Given the description of an element on the screen output the (x, y) to click on. 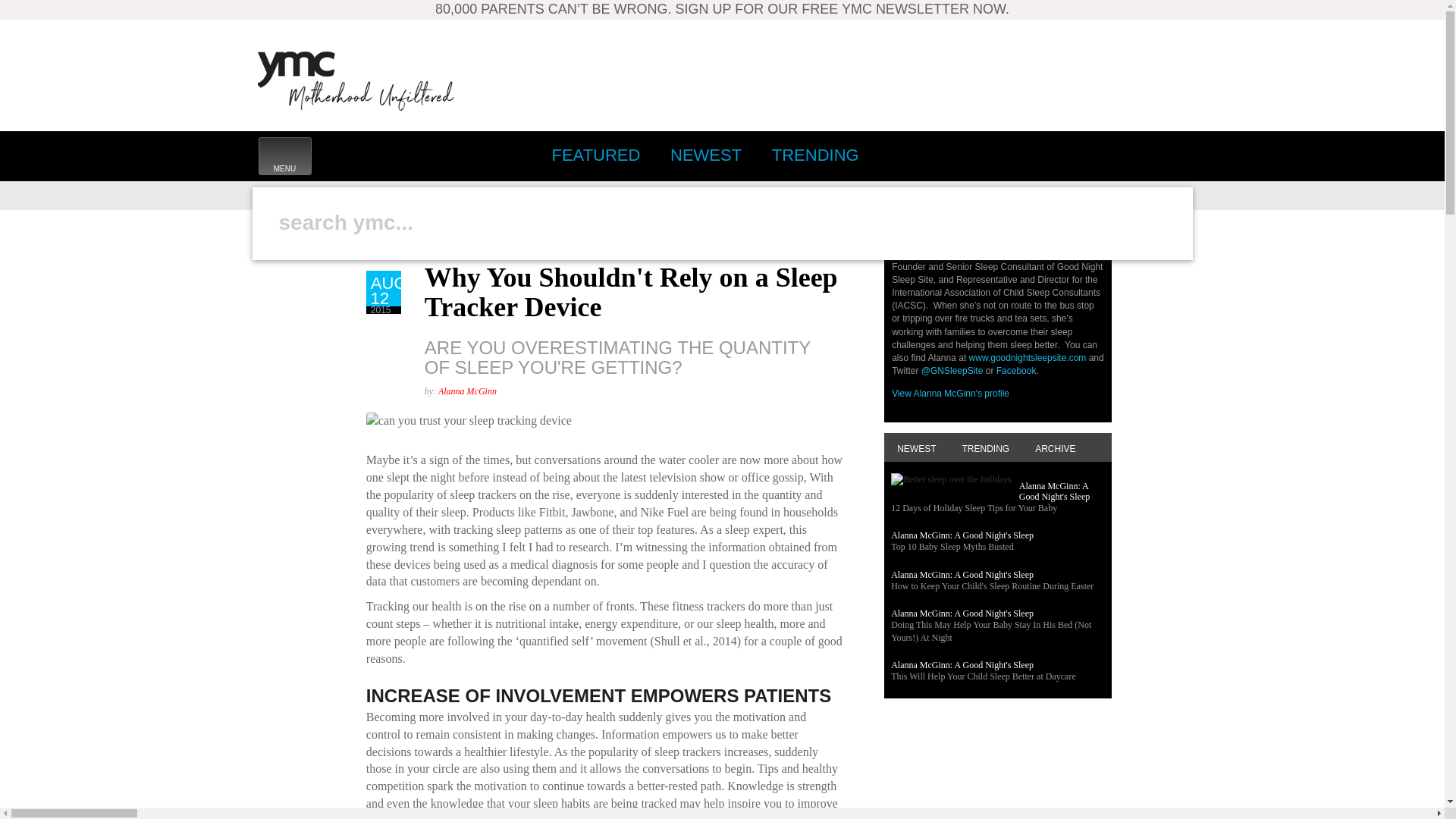
Search (284, 156)
Skip to main content (275, 276)
Twitter (1168, 154)
TRENDING (1135, 154)
SEARCH (815, 155)
Pinterest (591, 205)
Facebook (1068, 154)
NEWEST (1001, 154)
